Given the description of an element on the screen output the (x, y) to click on. 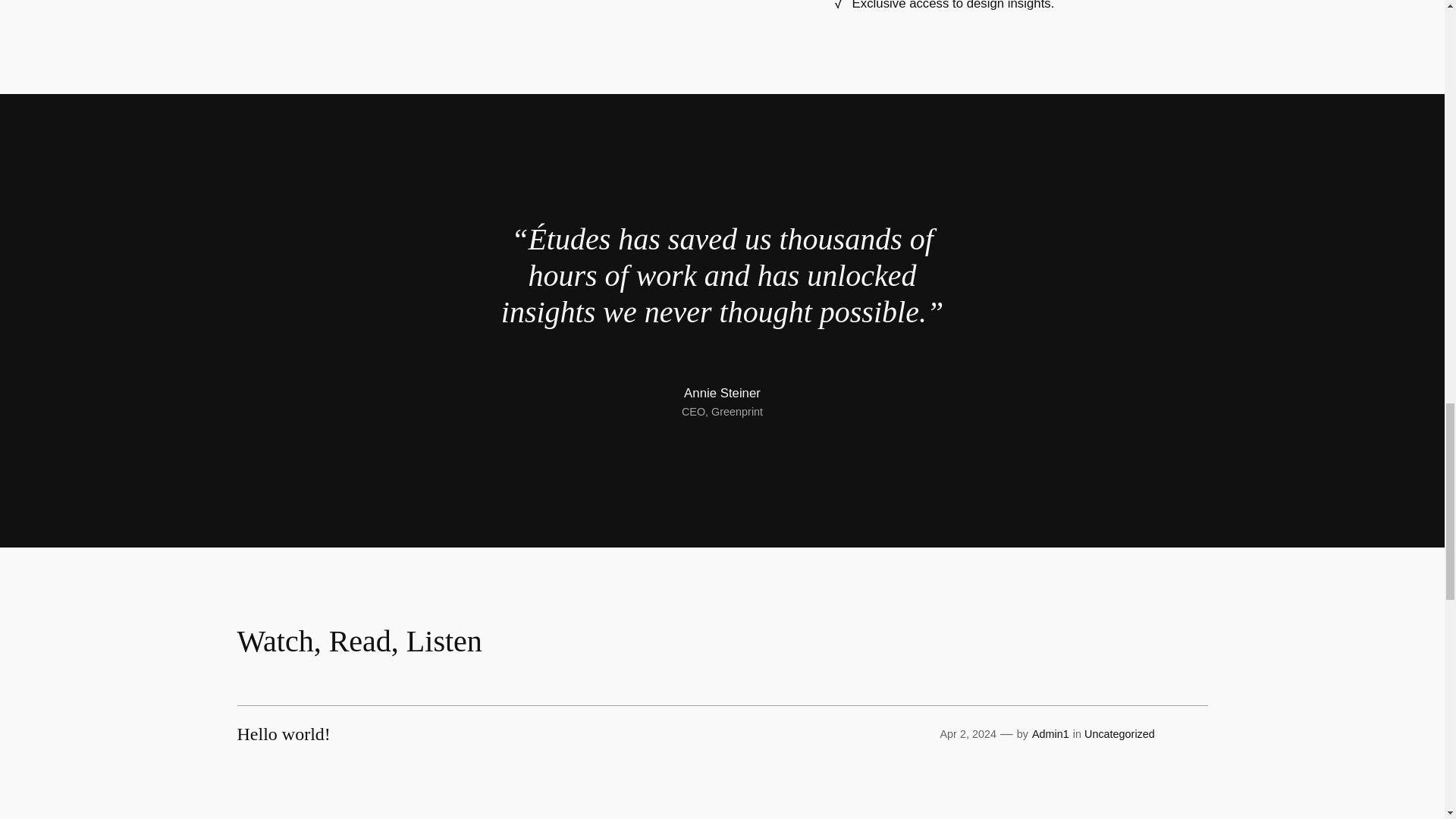
Apr 2, 2024 (967, 734)
Uncategorized (1119, 734)
Admin1 (1050, 734)
Hello world! (282, 733)
